Given the description of an element on the screen output the (x, y) to click on. 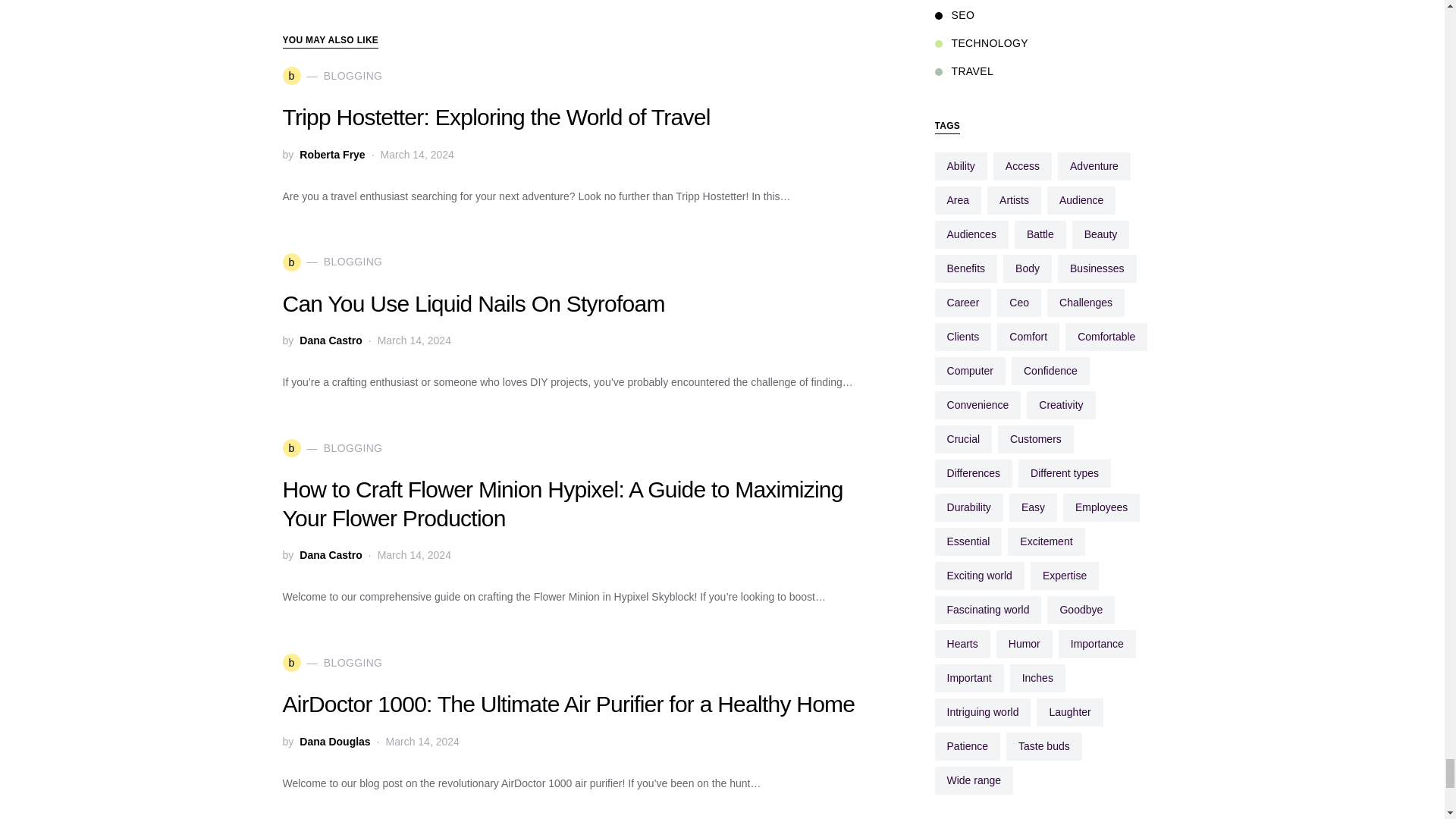
View all posts by Roberta Frye (332, 154)
View all posts by Dana Castro (330, 340)
View all posts by Dana Castro (330, 554)
View all posts by Dana Douglas (334, 741)
